Given the description of an element on the screen output the (x, y) to click on. 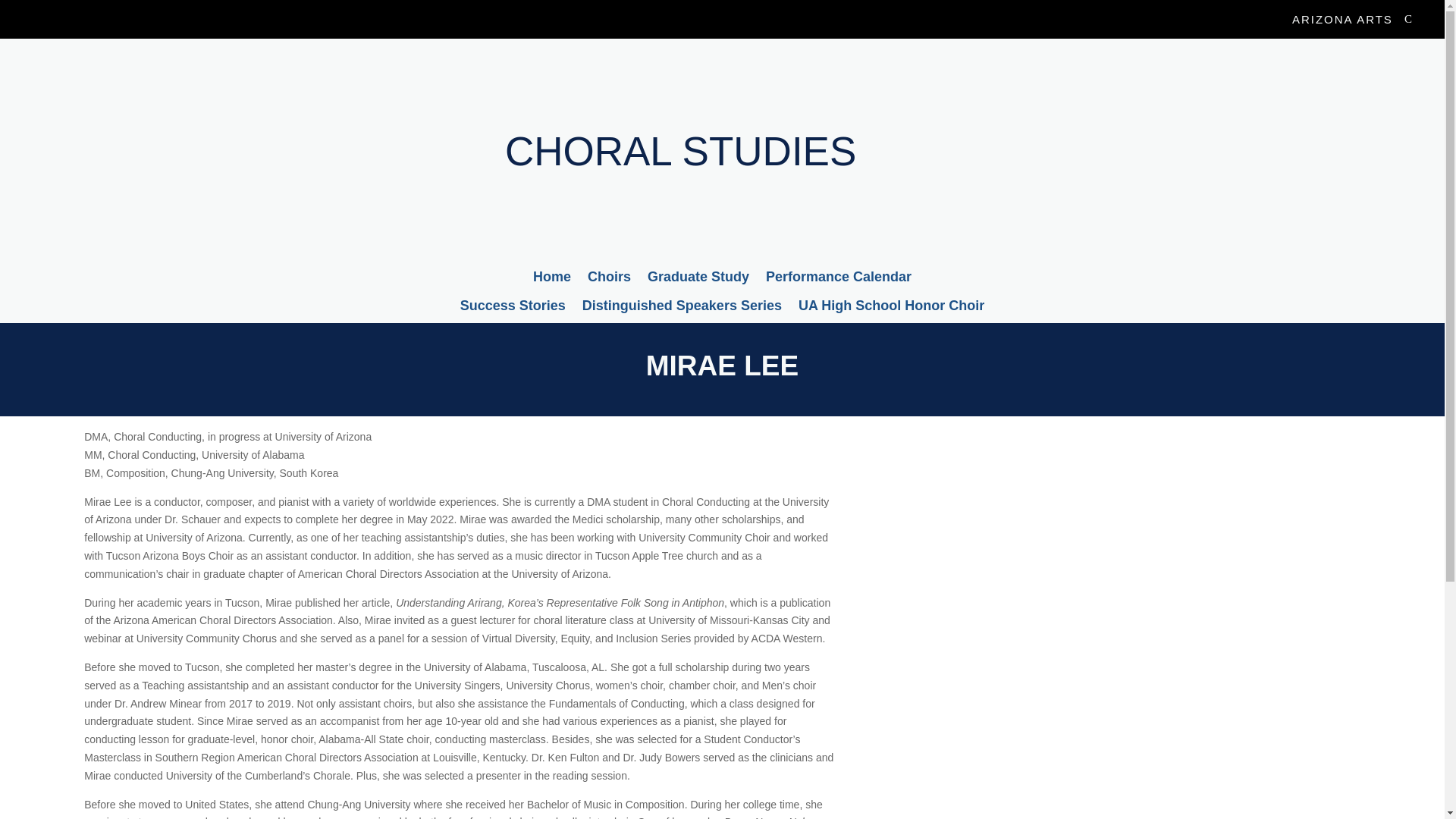
Music-Lockup-CFA (131, 148)
Graduate Study (698, 279)
UArizona (134, 19)
Performance Calendar (838, 279)
Choirs (609, 279)
UA High School Honor Choir (890, 308)
Home (551, 279)
Success Stories (513, 308)
ARIZONA ARTS (1349, 18)
Distinguished Speakers Series (681, 308)
